Given the description of an element on the screen output the (x, y) to click on. 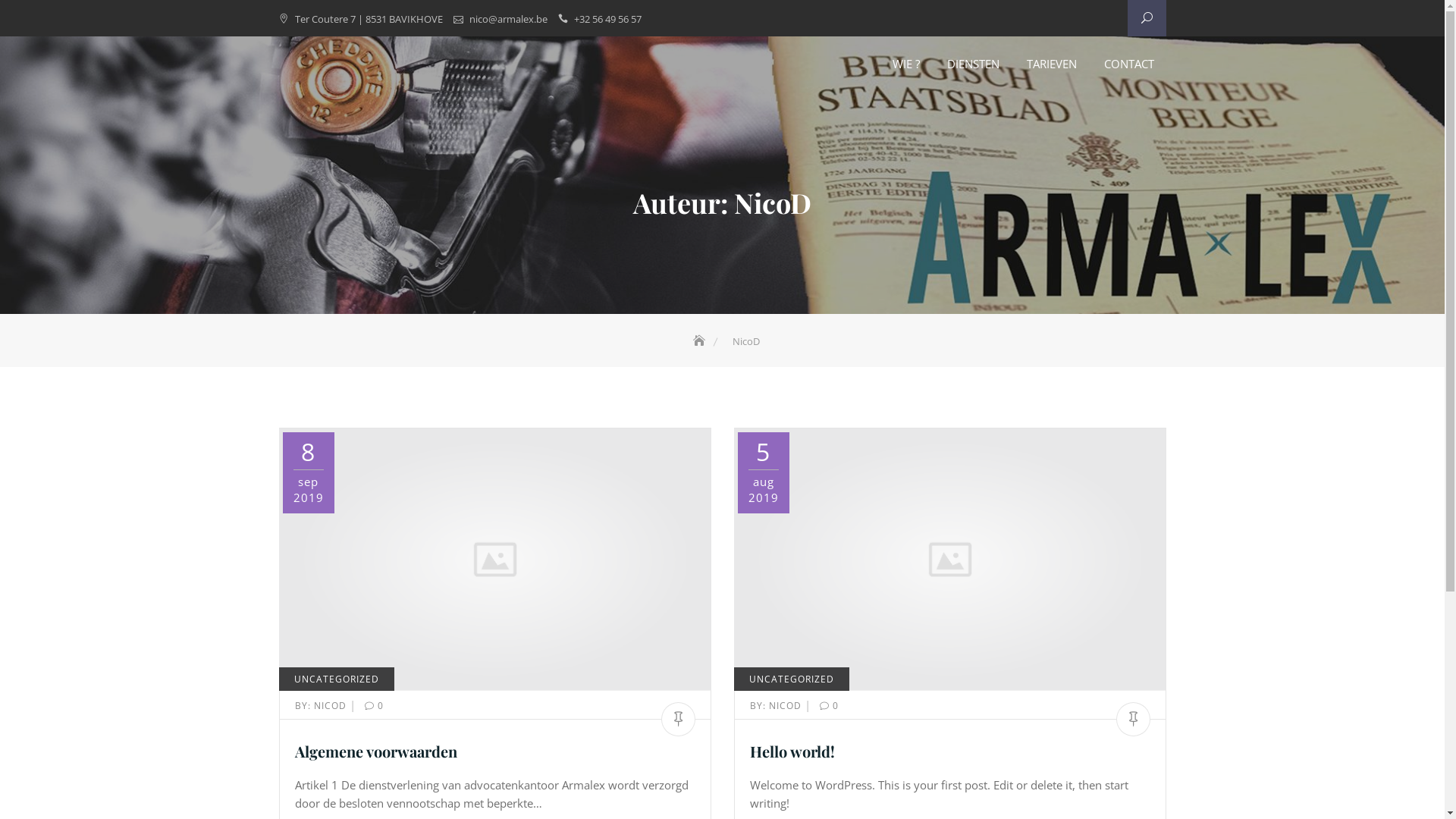
BY: NICOD Element type: text (776, 705)
+32 56 49 56 57 Element type: text (606, 18)
UNCATEGORIZED Element type: text (791, 678)
WIE ? Element type: text (905, 63)
Home Element type: text (700, 341)
0 Element type: text (824, 705)
8
sep
2019 Element type: text (307, 472)
Algemene voorwaarden Element type: text (375, 750)
nico@armalex.be Element type: text (507, 18)
TARIEVEN Element type: text (1051, 63)
0 Element type: text (369, 705)
Zoeken Element type: text (47, 15)
UNCATEGORIZED Element type: text (336, 678)
CONTACT Element type: text (1129, 63)
BY: NICOD Element type: text (321, 705)
5
aug
2019 Element type: text (762, 472)
DIENSTEN Element type: text (972, 63)
Hello world! Element type: text (791, 750)
